Given the description of an element on the screen output the (x, y) to click on. 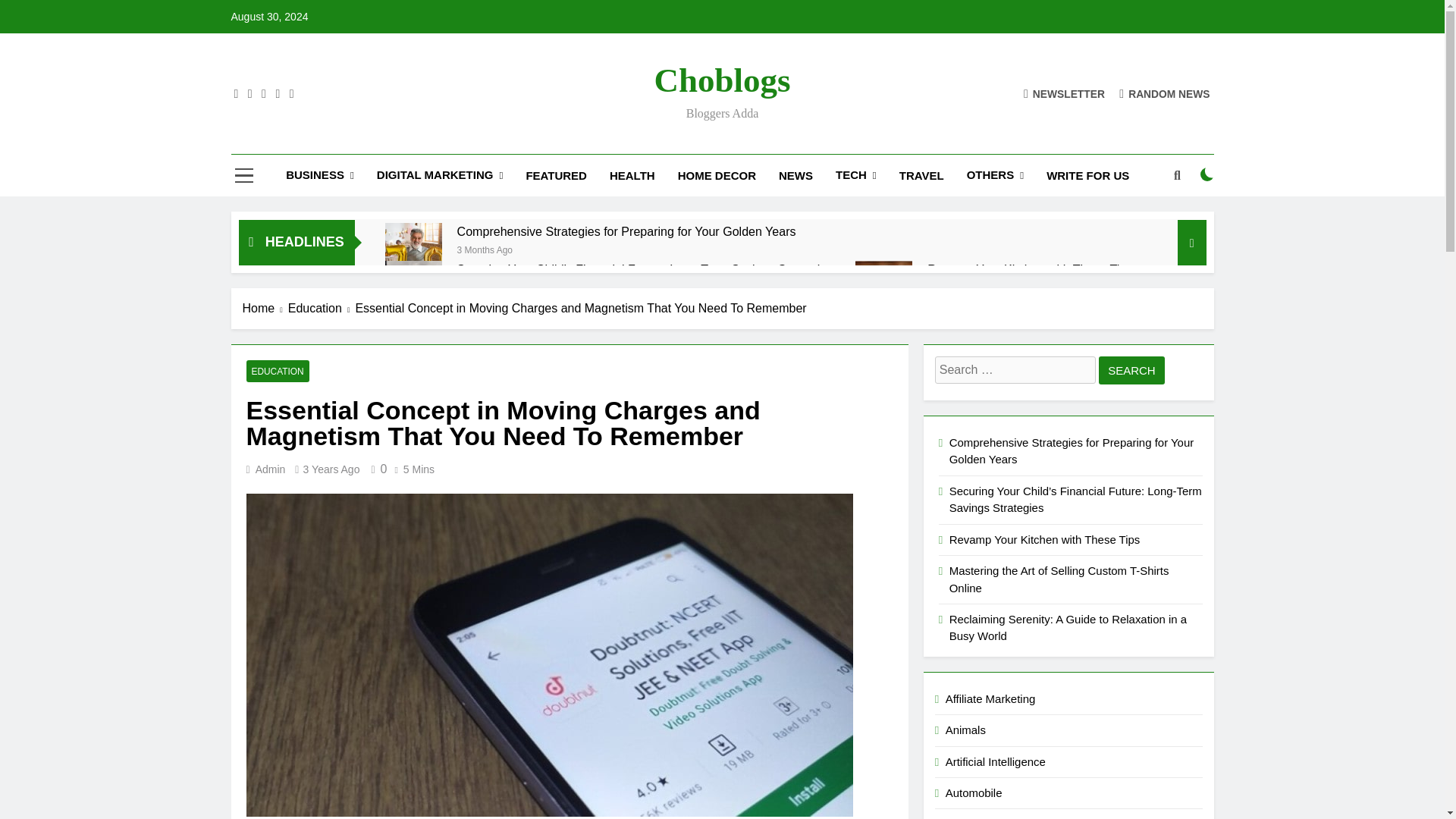
Revamp Your Kitchen with These Tips (884, 289)
NEWSLETTER (1064, 92)
3 Months Ago (484, 248)
TRAVEL (921, 174)
HEALTH (632, 174)
Search (1131, 370)
Revamp Your Kitchen with These Tips (1029, 269)
HOME DECOR (716, 174)
WRITE FOR US (1087, 174)
BUSINESS (320, 175)
